Given the description of an element on the screen output the (x, y) to click on. 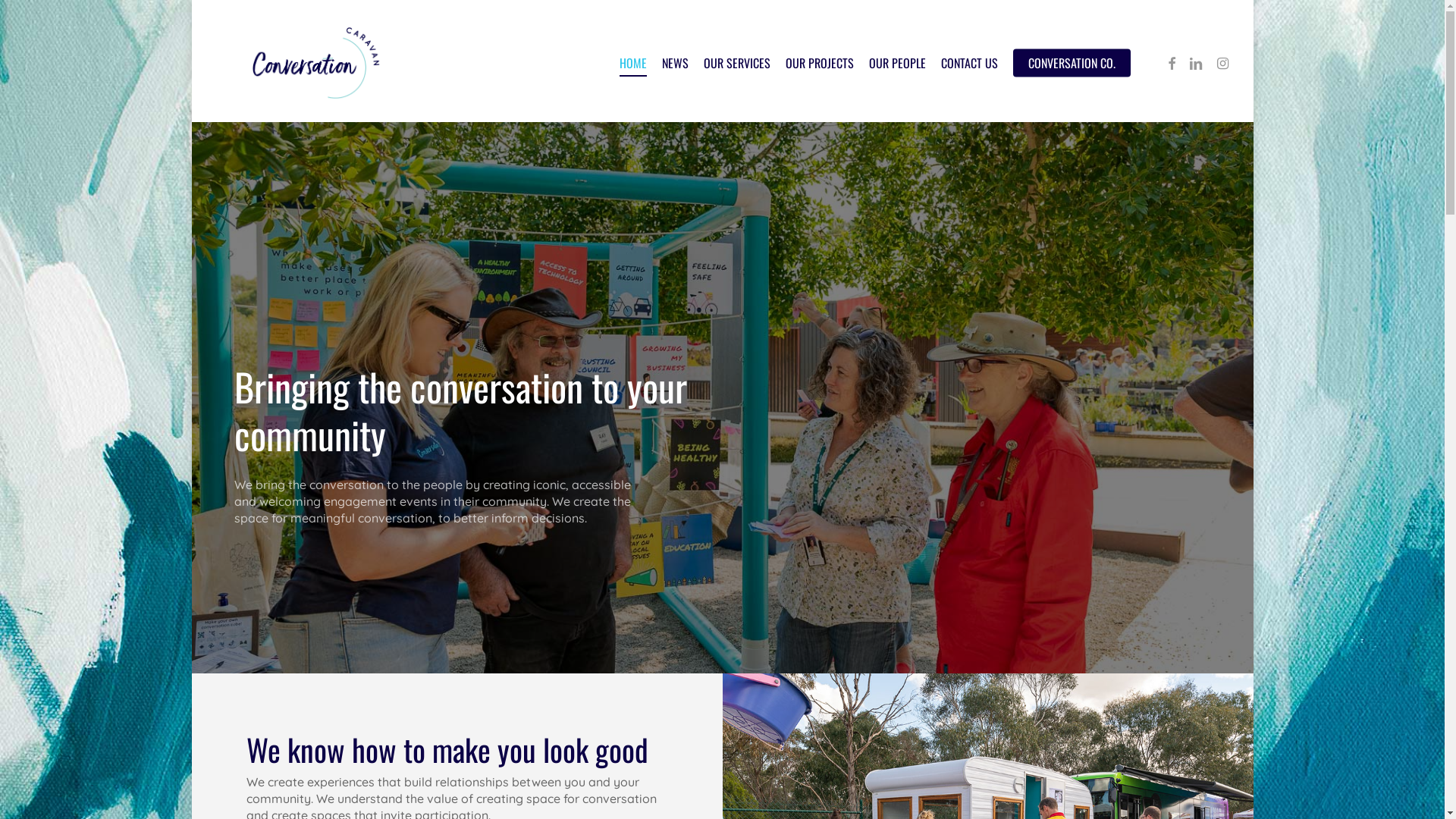
OUR PEOPLE Element type: text (897, 62)
OUR PROJECTS Element type: text (819, 62)
LINKEDIN Element type: text (1194, 62)
INSTAGRAM Element type: text (1222, 62)
CONVERSATION CO. Element type: text (1071, 62)
HOME Element type: text (632, 62)
OUR SERVICES Element type: text (736, 62)
FACEBOOK Element type: text (1170, 62)
NEWS Element type: text (674, 62)
CONTACT US Element type: text (968, 62)
